Given the description of an element on the screen output the (x, y) to click on. 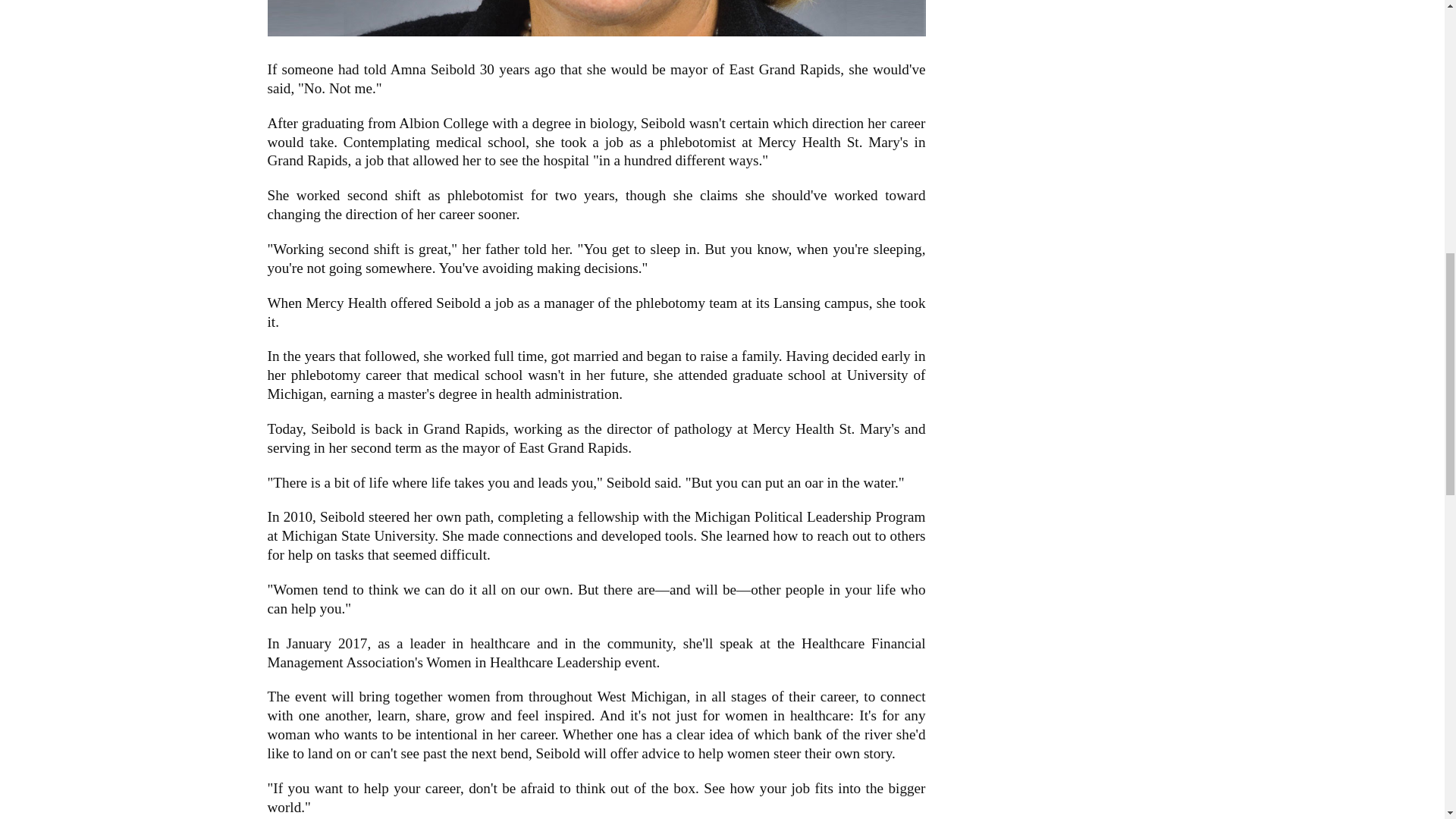
3rd party ad content (1062, 20)
3rd party ad content (1062, 185)
